Given the description of an element on the screen output the (x, y) to click on. 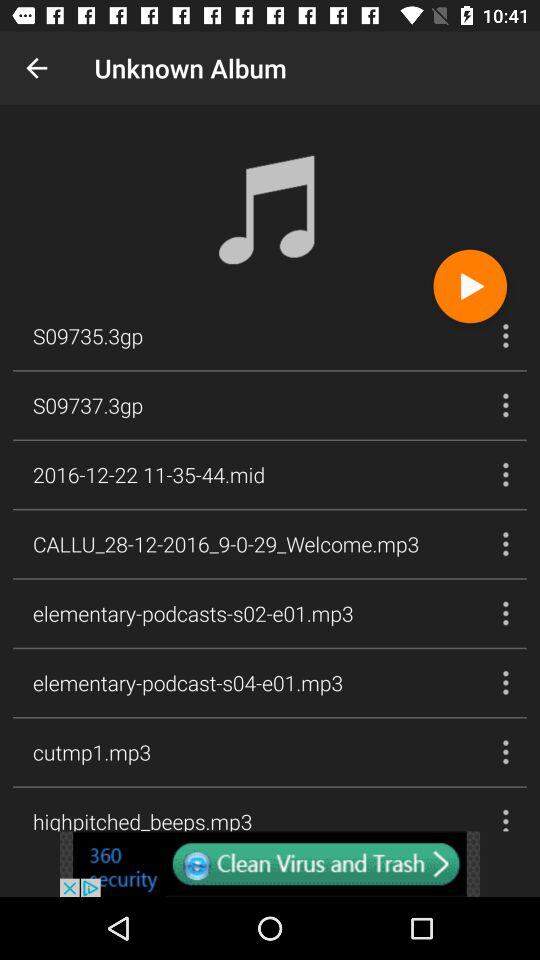
click and open link (270, 864)
